Given the description of an element on the screen output the (x, y) to click on. 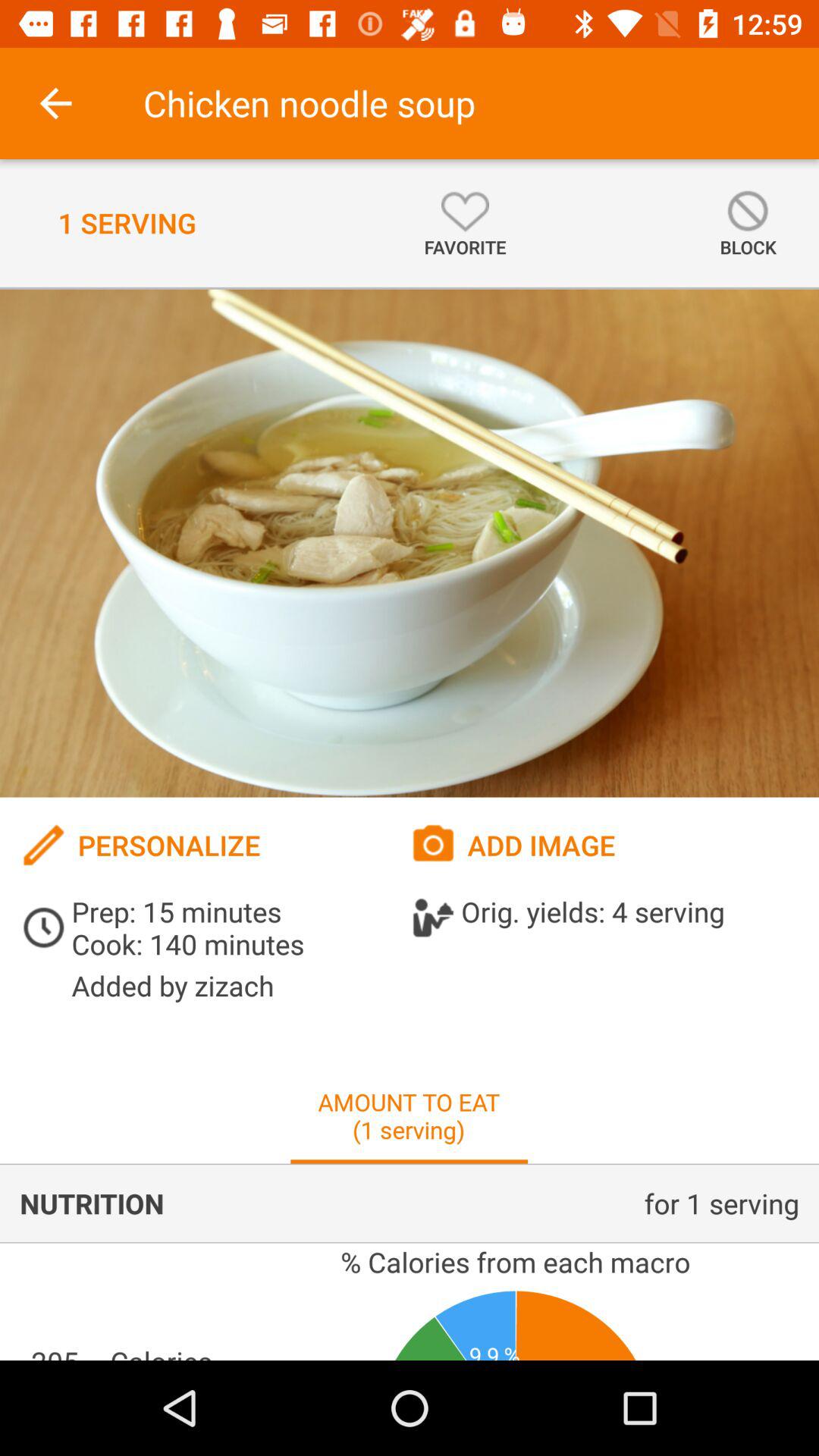
choose the item above the 1 serving item (55, 103)
